Given the description of an element on the screen output the (x, y) to click on. 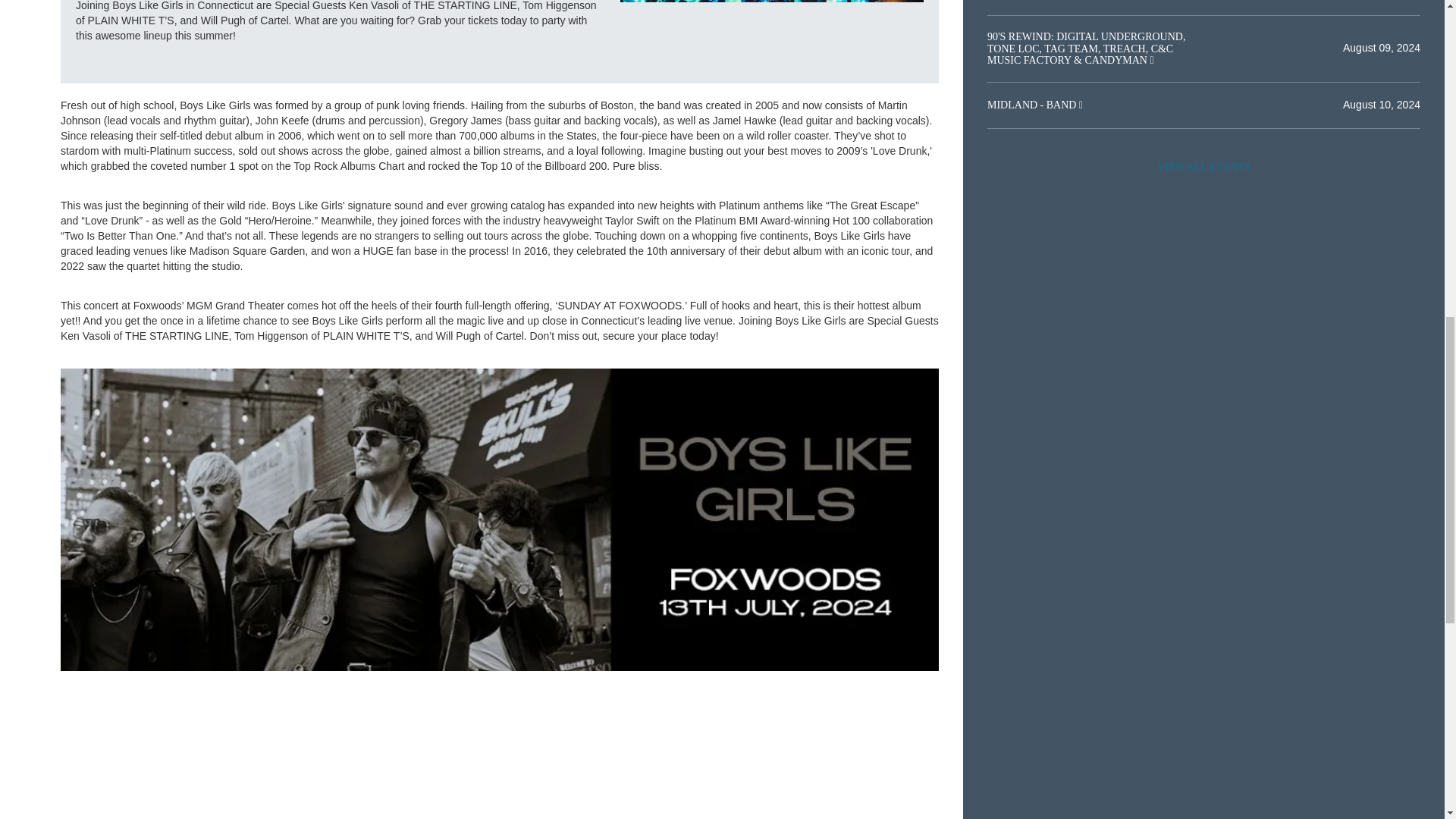
MIDLAND - BAND (1032, 104)
VIEW ALL EVENTS (1203, 167)
